Given the description of an element on the screen output the (x, y) to click on. 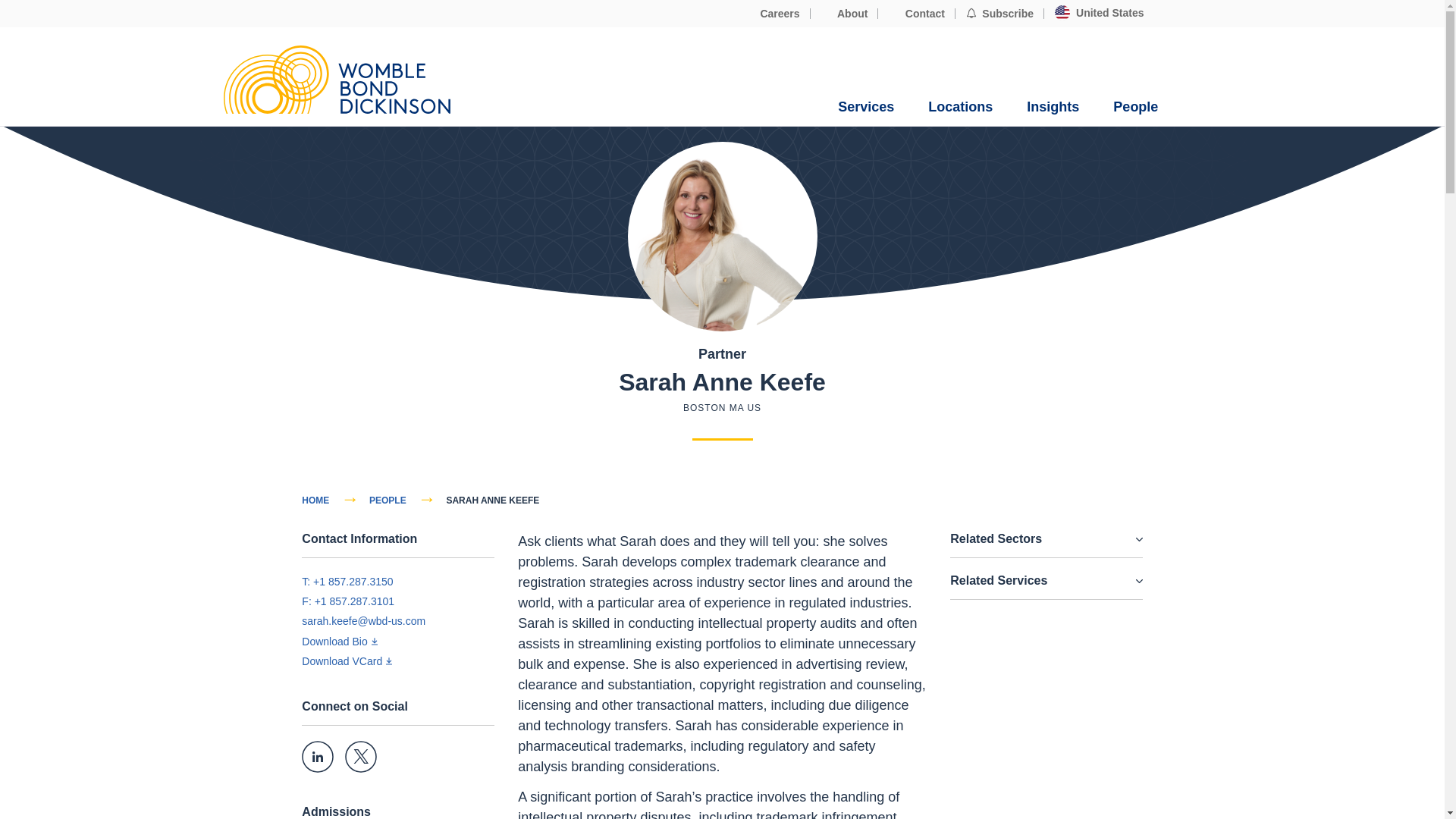
Locations (960, 107)
Contact (916, 13)
About (844, 13)
Services (865, 107)
United States (1098, 13)
Careers (771, 13)
